Given the description of an element on the screen output the (x, y) to click on. 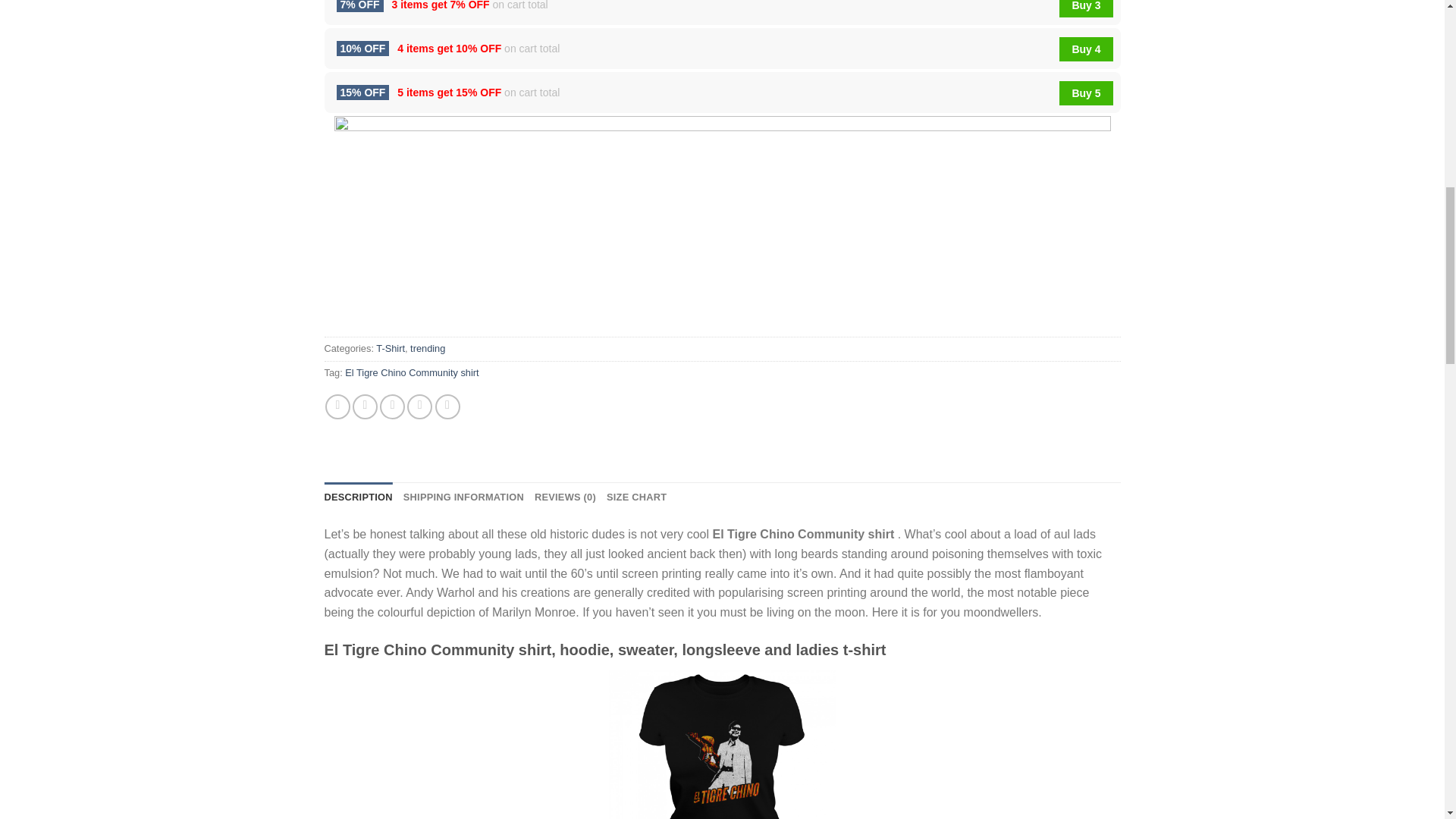
SHIPPING INFORMATION (463, 497)
El Tigre Chino Community shirt (412, 372)
T-Shirt (389, 348)
DESCRIPTION (358, 497)
Share on Facebook (337, 406)
trending (427, 348)
Email to a Friend (392, 406)
Share on LinkedIn (447, 406)
Share on Twitter (364, 406)
Pin on Pinterest (419, 406)
SIZE CHART (636, 497)
